Given the description of an element on the screen output the (x, y) to click on. 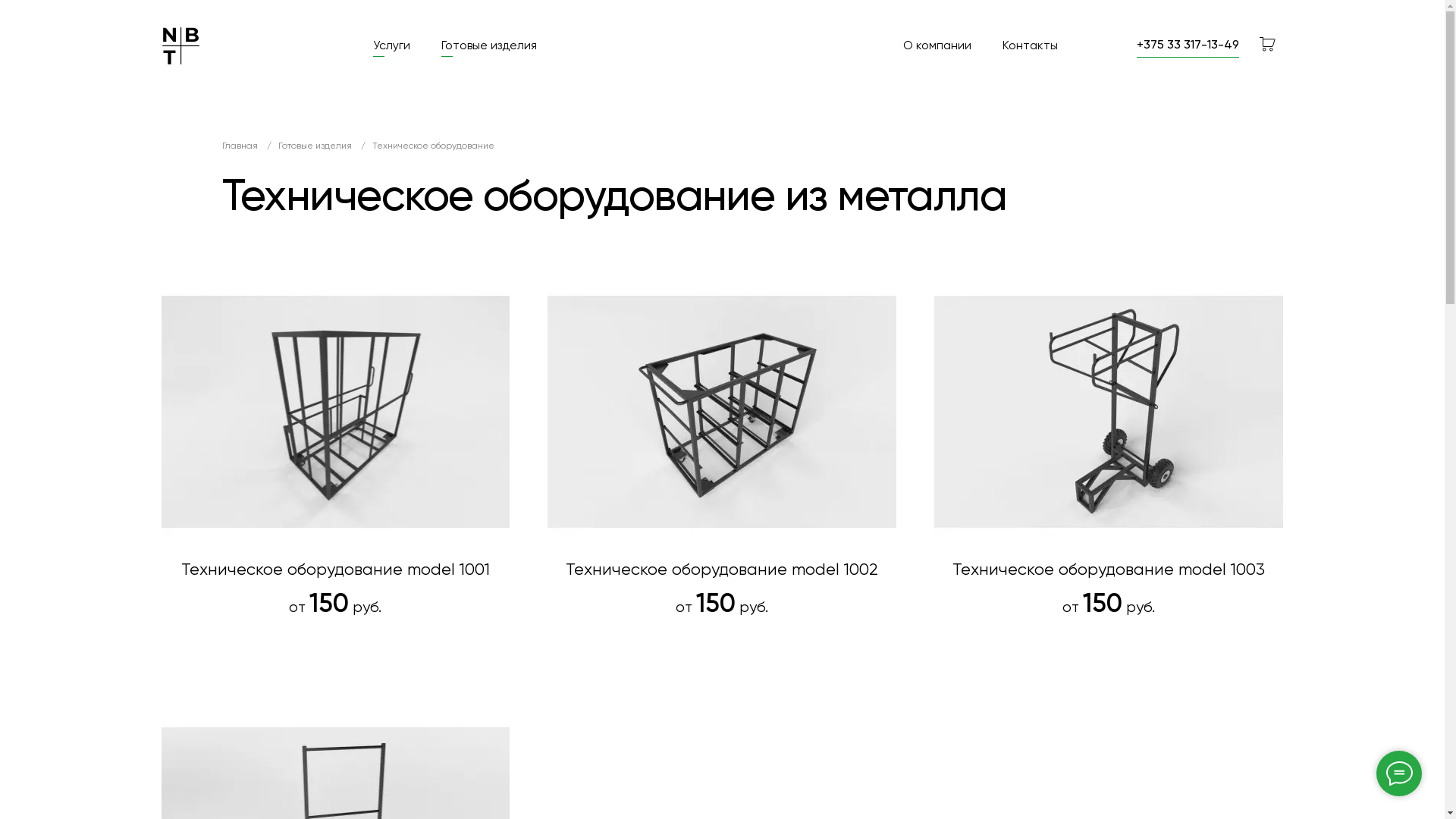
+375 33 317-13-49 Element type: text (1186, 44)
